Given the description of an element on the screen output the (x, y) to click on. 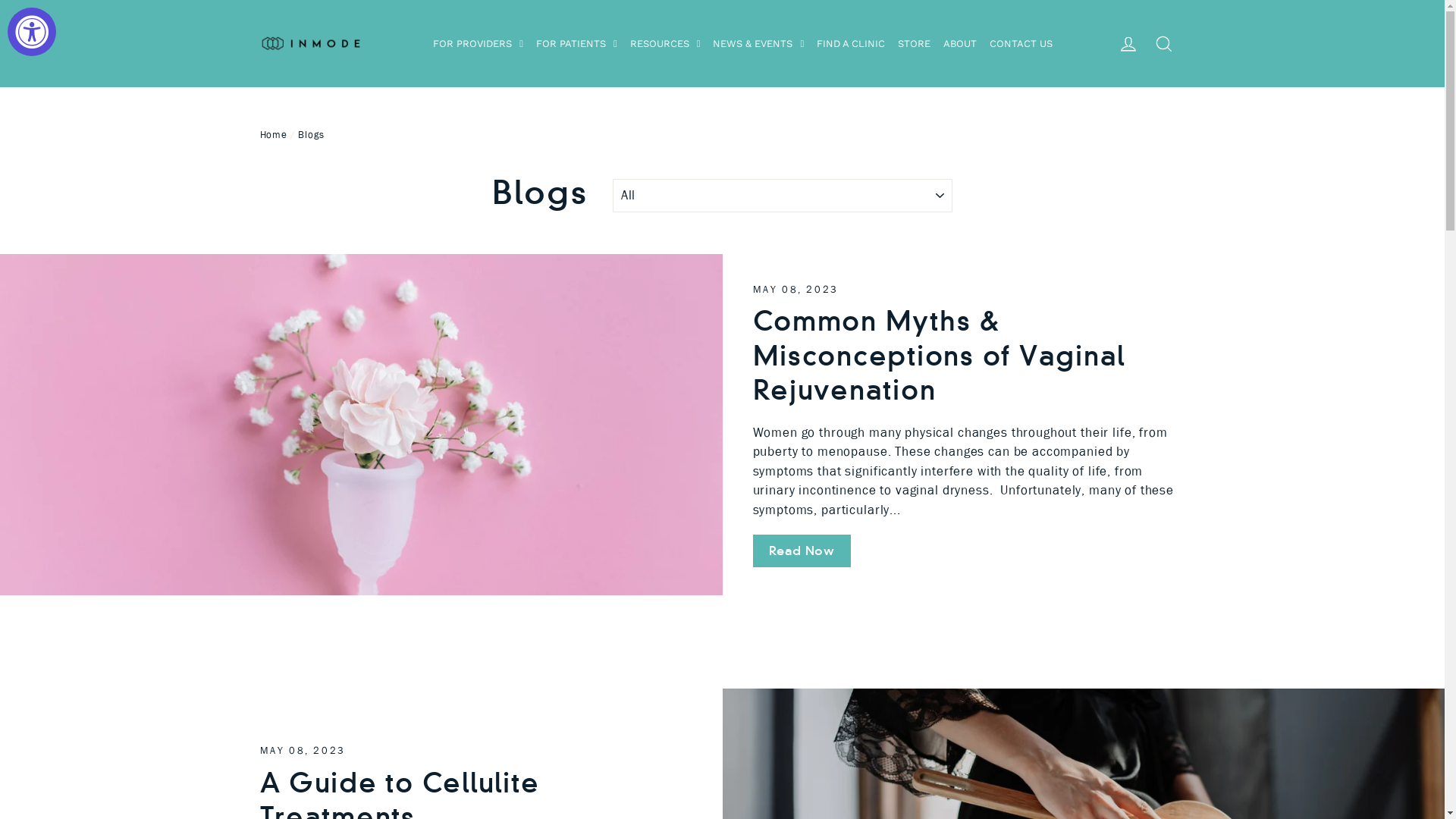
Home Element type: text (272, 134)
Skip to content Element type: text (0, 0)
FOR PROVIDERS Element type: text (477, 43)
RESOURCES Element type: text (665, 43)
FOR PATIENTS Element type: text (576, 43)
Cart Element type: text (1188, 43)
Common Myths & Misconceptions of Vaginal Rejuvenation Element type: text (938, 355)
NEWS & EVENTS Element type: text (757, 43)
ABOUT Element type: text (959, 43)
Search Element type: text (1163, 43)
Log in Element type: text (1128, 43)
STORE Element type: text (913, 43)
CONTACT US Element type: text (1020, 43)
Read Now Element type: text (801, 550)
FIND A CLINIC Element type: text (850, 43)
